Given the description of an element on the screen output the (x, y) to click on. 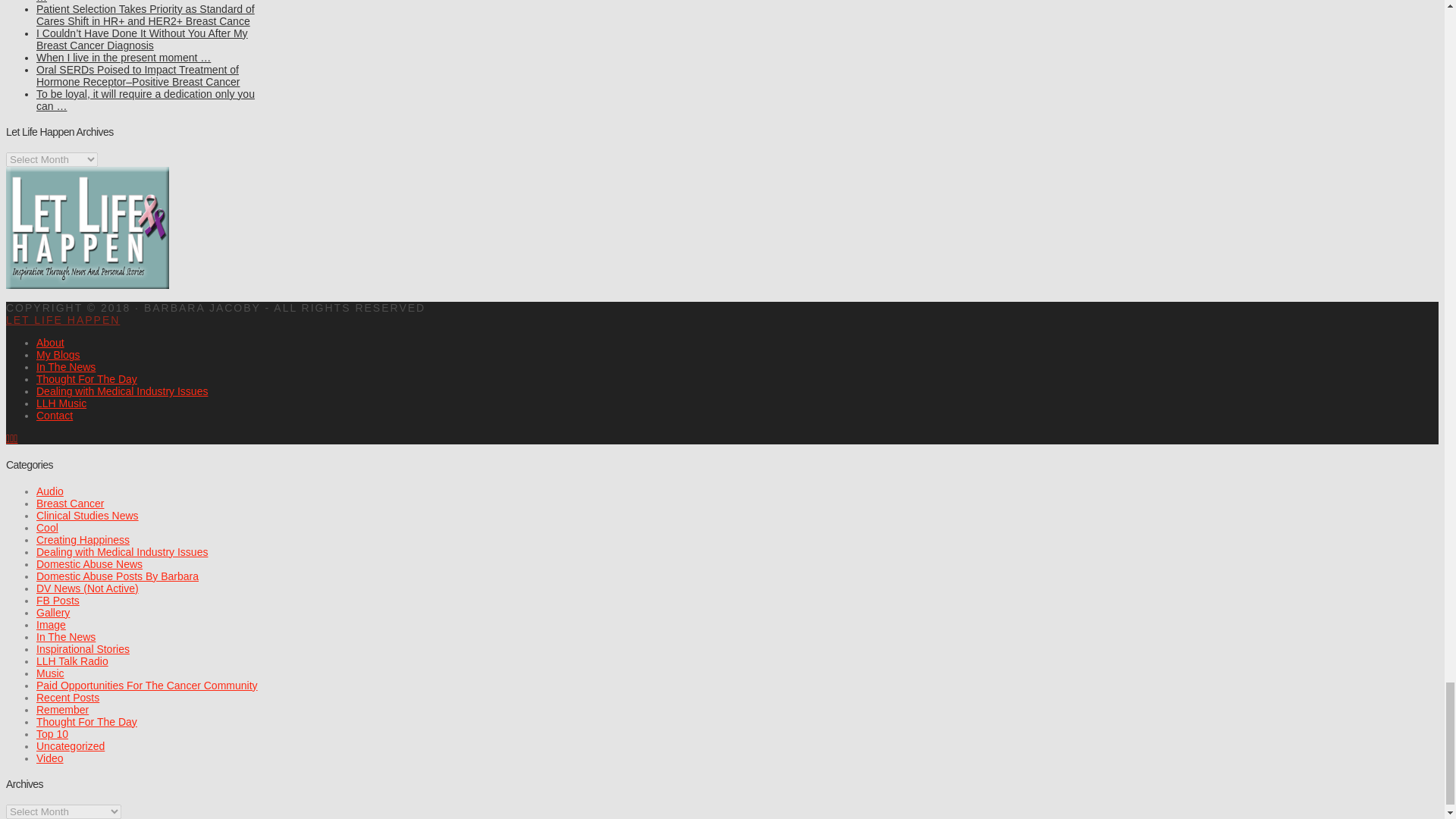
Let Life Happen (62, 319)
